Given the description of an element on the screen output the (x, y) to click on. 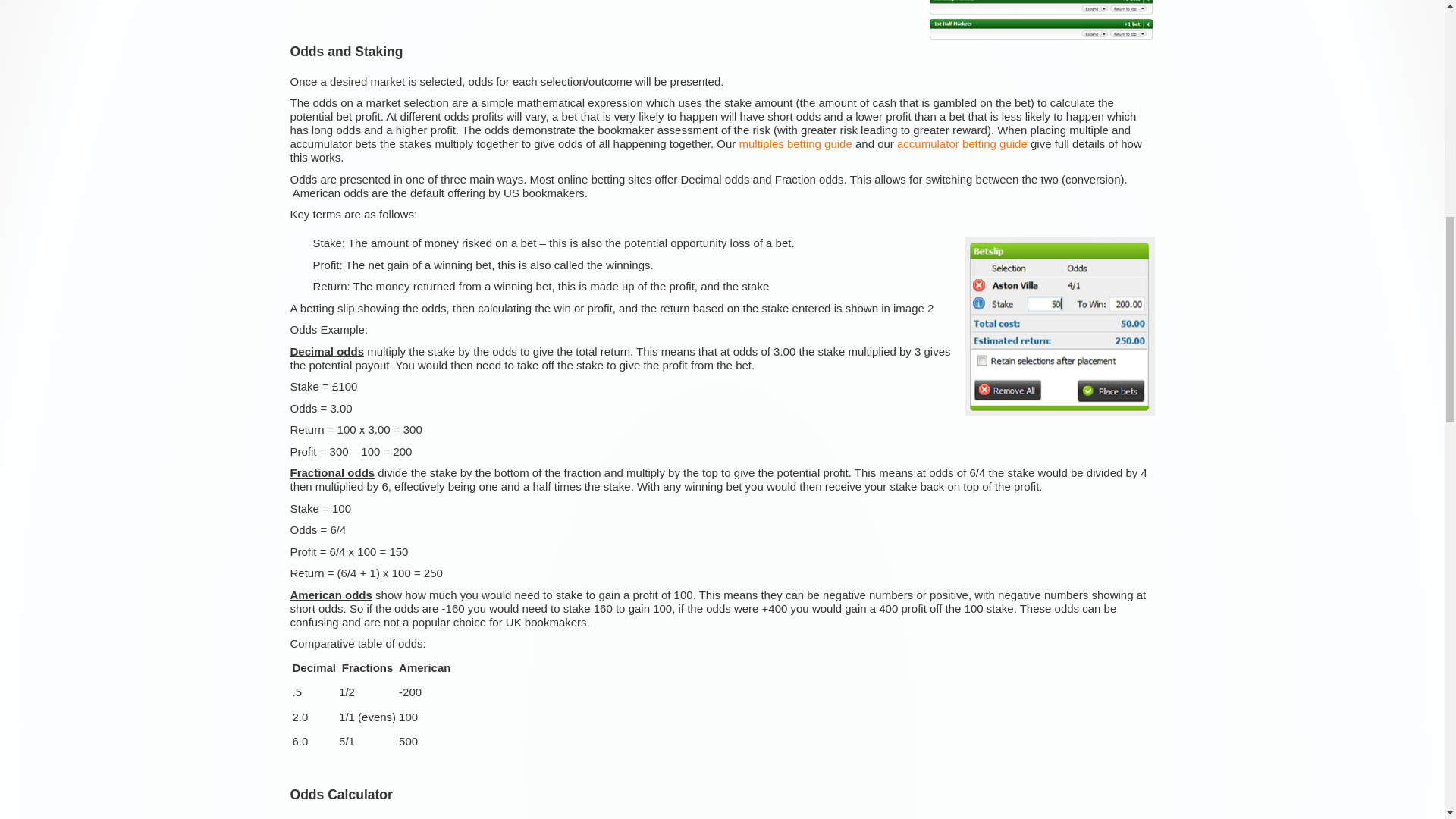
accumulator betting guide (961, 143)
Multiples Betting Guide: Introduction and Definitons (795, 143)
multiples betting guide (795, 143)
